Given the description of an element on the screen output the (x, y) to click on. 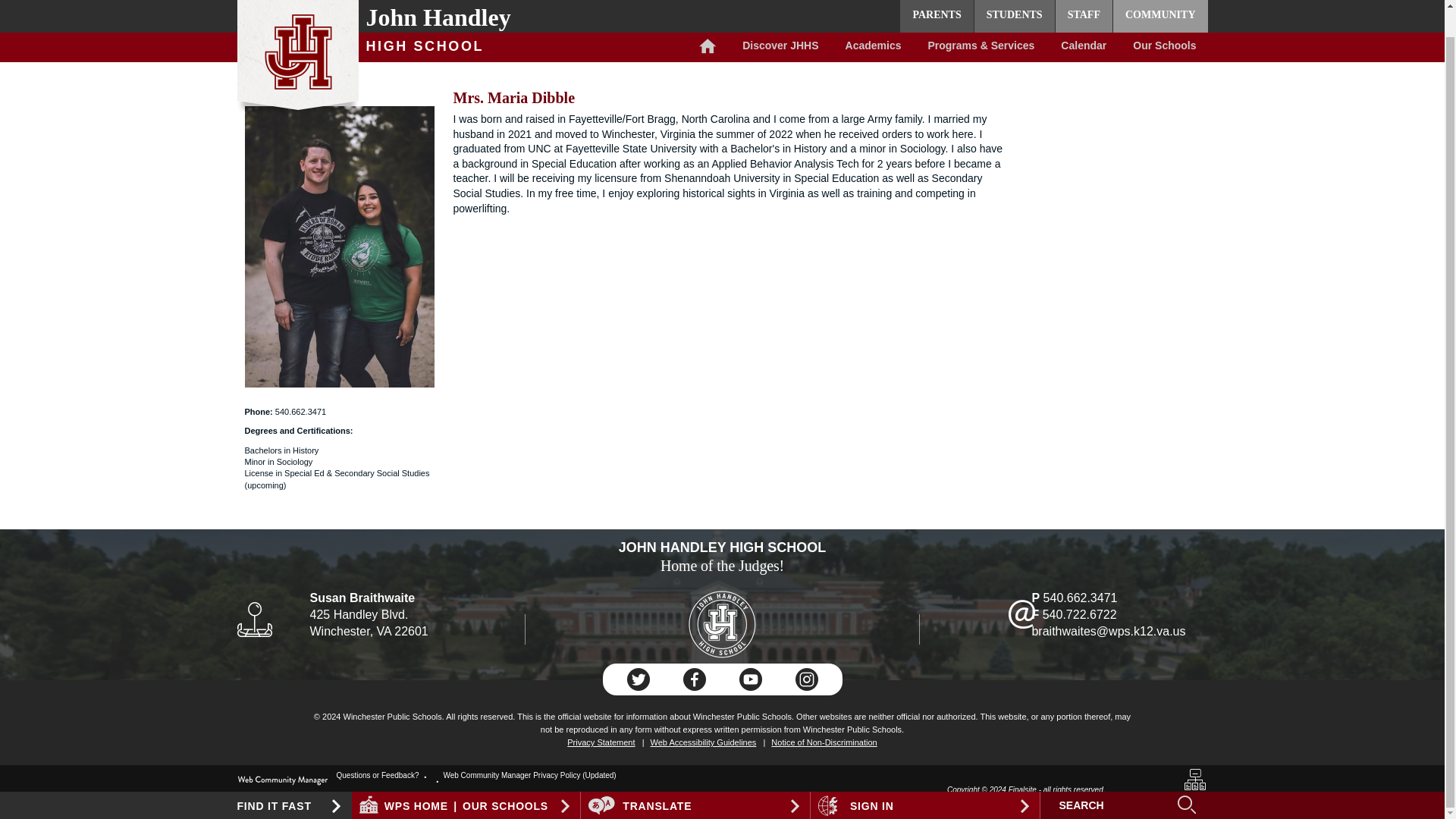
Click to email the primary contact (379, 775)
STAFF (1083, 2)
Finalsite - all rights reserved (281, 780)
SEARCH (1110, 777)
STUDENTS (1014, 2)
Discover JHHS (779, 19)
PARENTS (935, 2)
COMMUNITY (1160, 2)
